Given the description of an element on the screen output the (x, y) to click on. 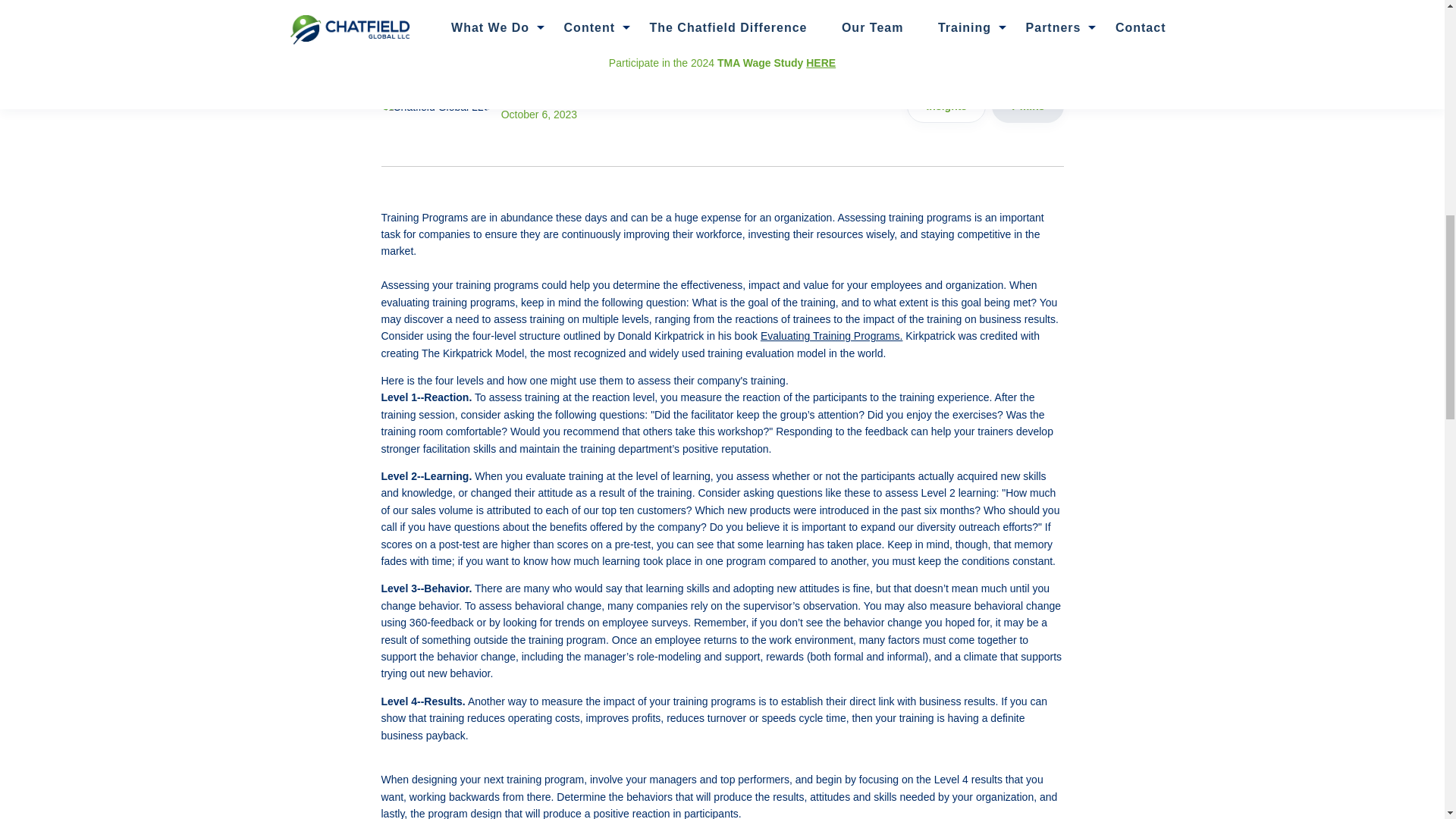
Insights (946, 105)
The Kirkpatrick Model (552, 105)
